Given the description of an element on the screen output the (x, y) to click on. 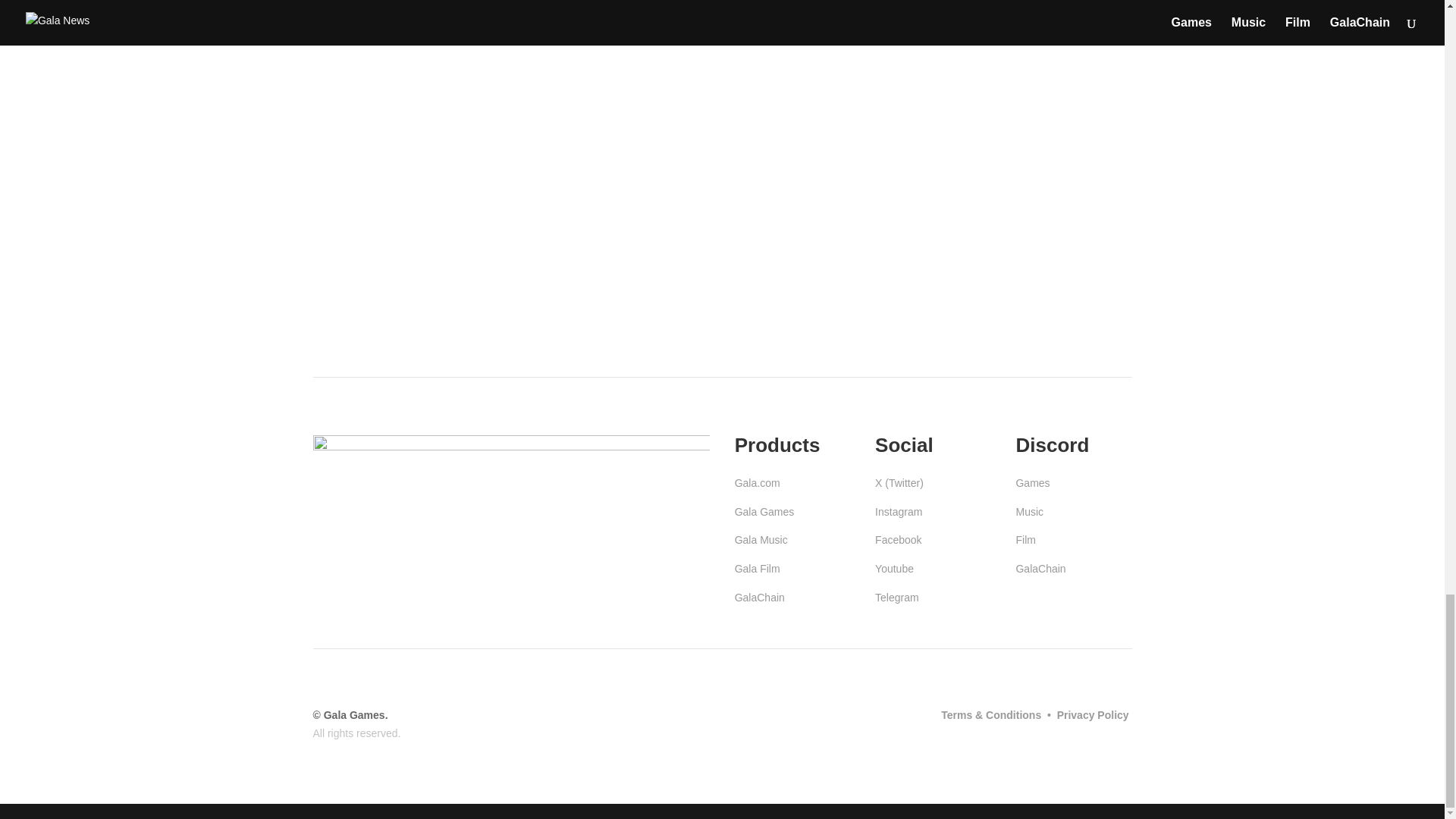
Gala Music (761, 539)
Youtube (894, 568)
Gala Film (757, 568)
GalaChain (759, 597)
Instagram (898, 511)
Gala.com (757, 482)
Facebook (898, 539)
Gala Games (764, 511)
